Given the description of an element on the screen output the (x, y) to click on. 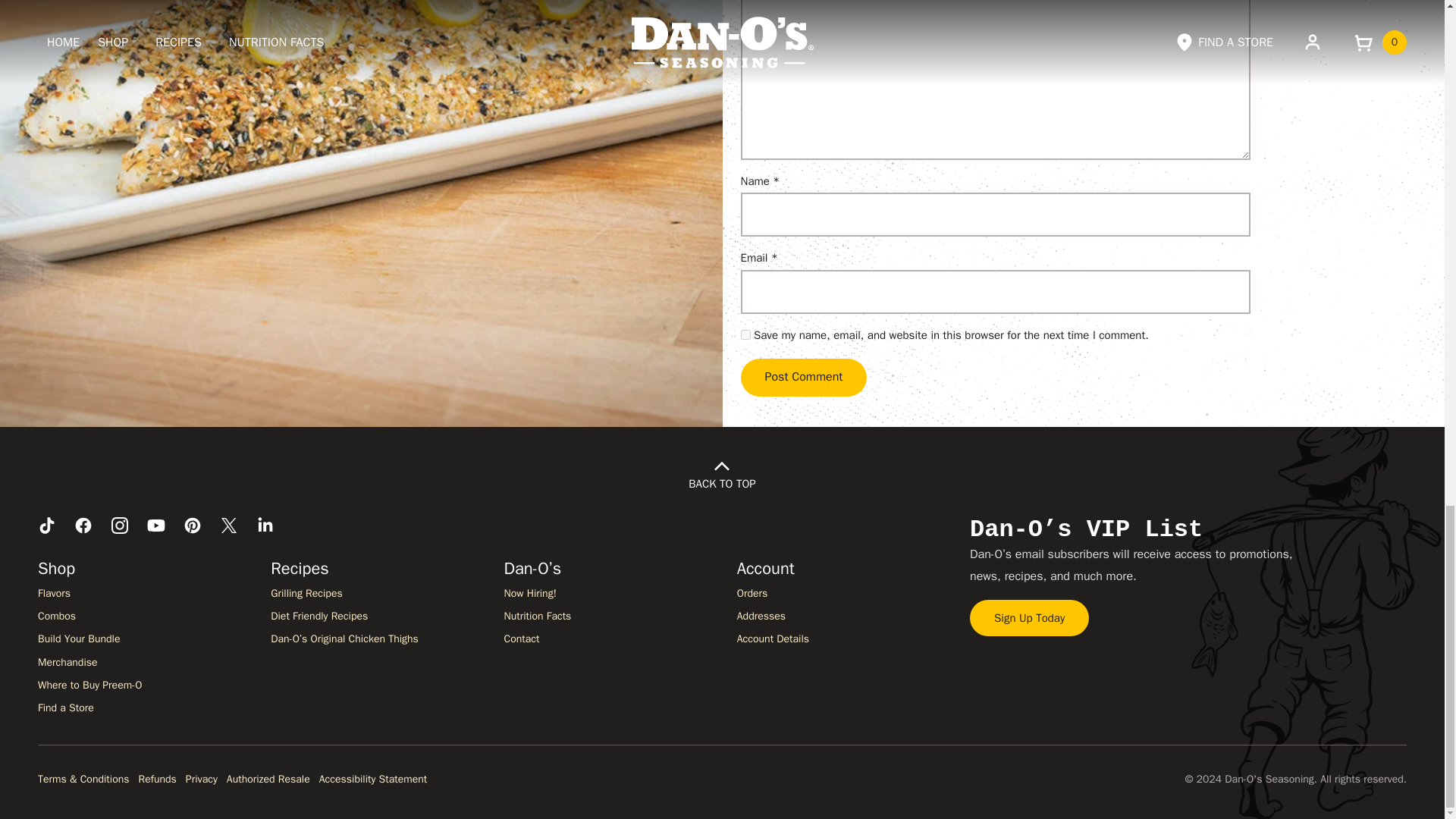
Post Comment (802, 377)
Flavors (53, 593)
Post Comment (802, 377)
Subscribe to us on YouTube (156, 525)
Combos (56, 615)
Shop (56, 568)
Build Your Bundle (78, 638)
Like us on Facebook (83, 525)
Follow us on Twitter (228, 525)
Follow us on Pinterest (192, 525)
BACK TO TOP (721, 475)
Follow us on TikTok (46, 525)
Follow us on Instagram (119, 525)
yes (744, 334)
